Given the description of an element on the screen output the (x, y) to click on. 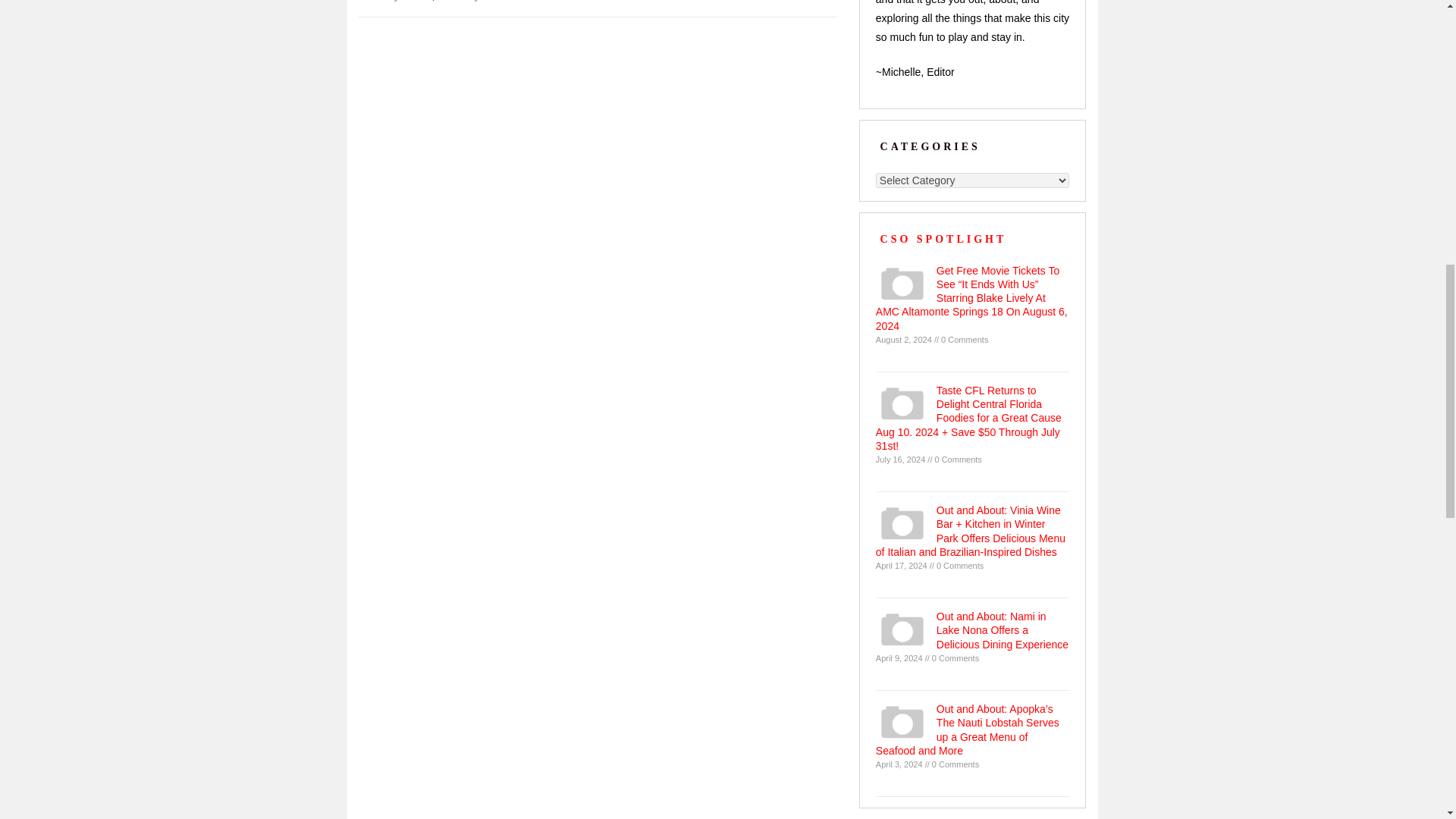
Peabody Orlando Hotel (493, 0)
Peabody Ducks (395, 0)
CSO SPOTLIGHT (943, 238)
